Given the description of an element on the screen output the (x, y) to click on. 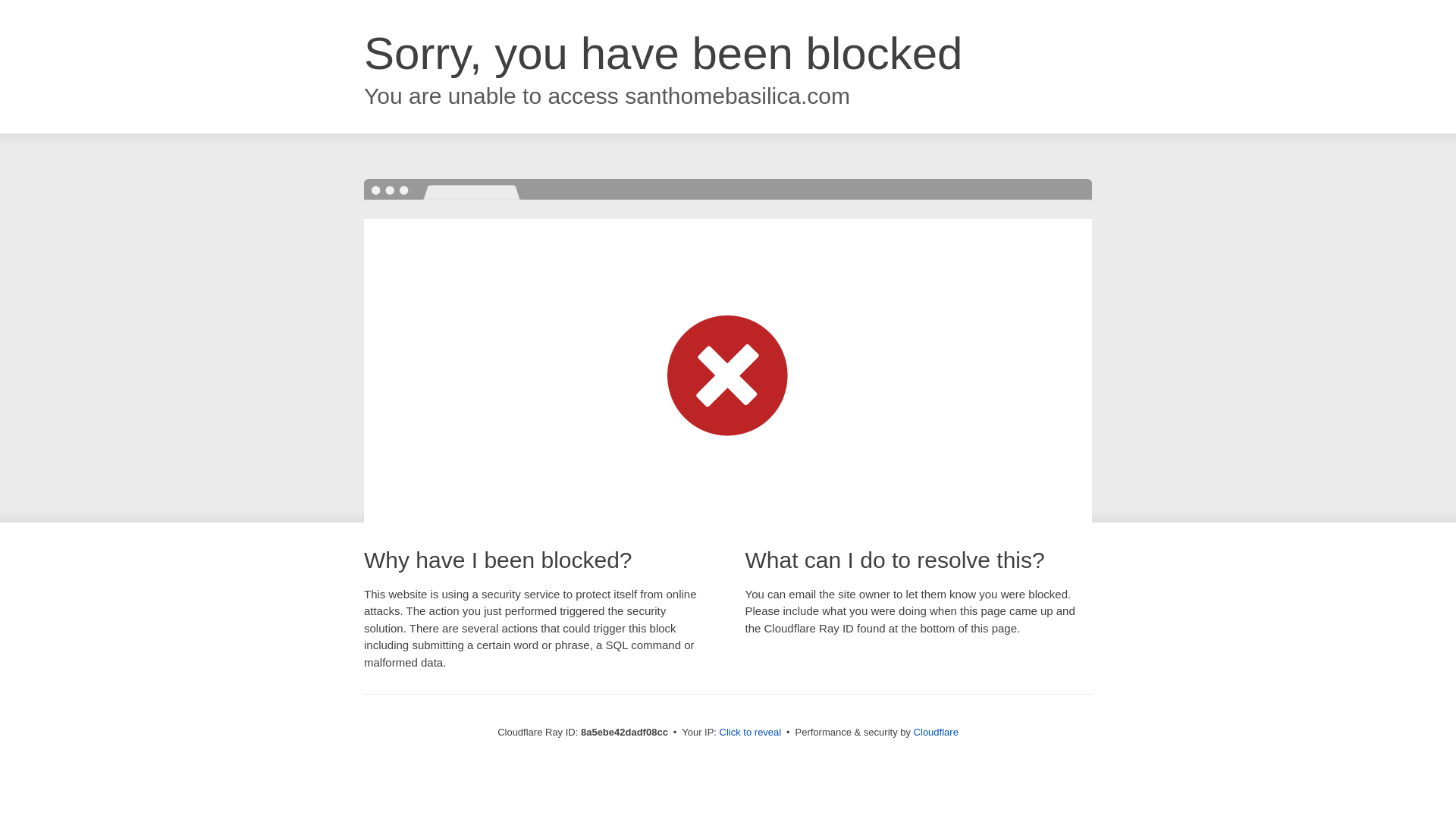
Cloudflare (936, 731)
Click to reveal (750, 732)
